Given the description of an element on the screen output the (x, y) to click on. 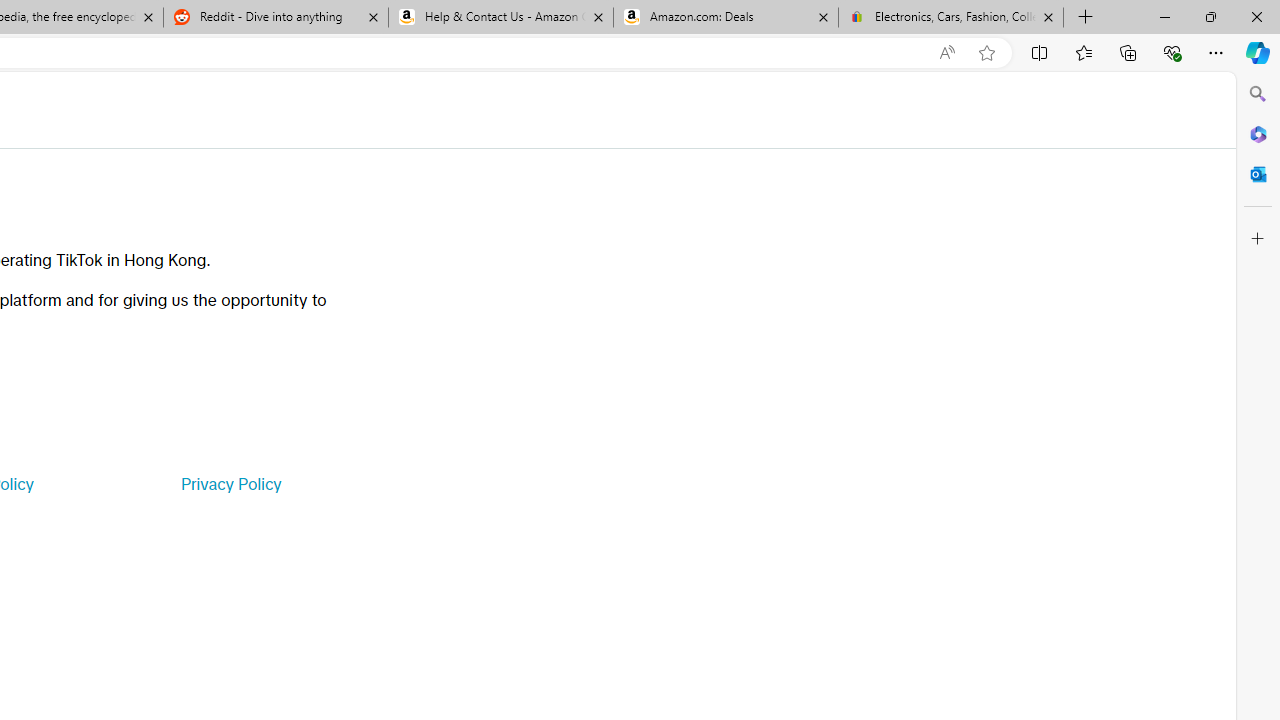
Privacy Policy (230, 484)
Amazon.com: Deals (726, 17)
Reddit - Dive into anything (275, 17)
